Given the description of an element on the screen output the (x, y) to click on. 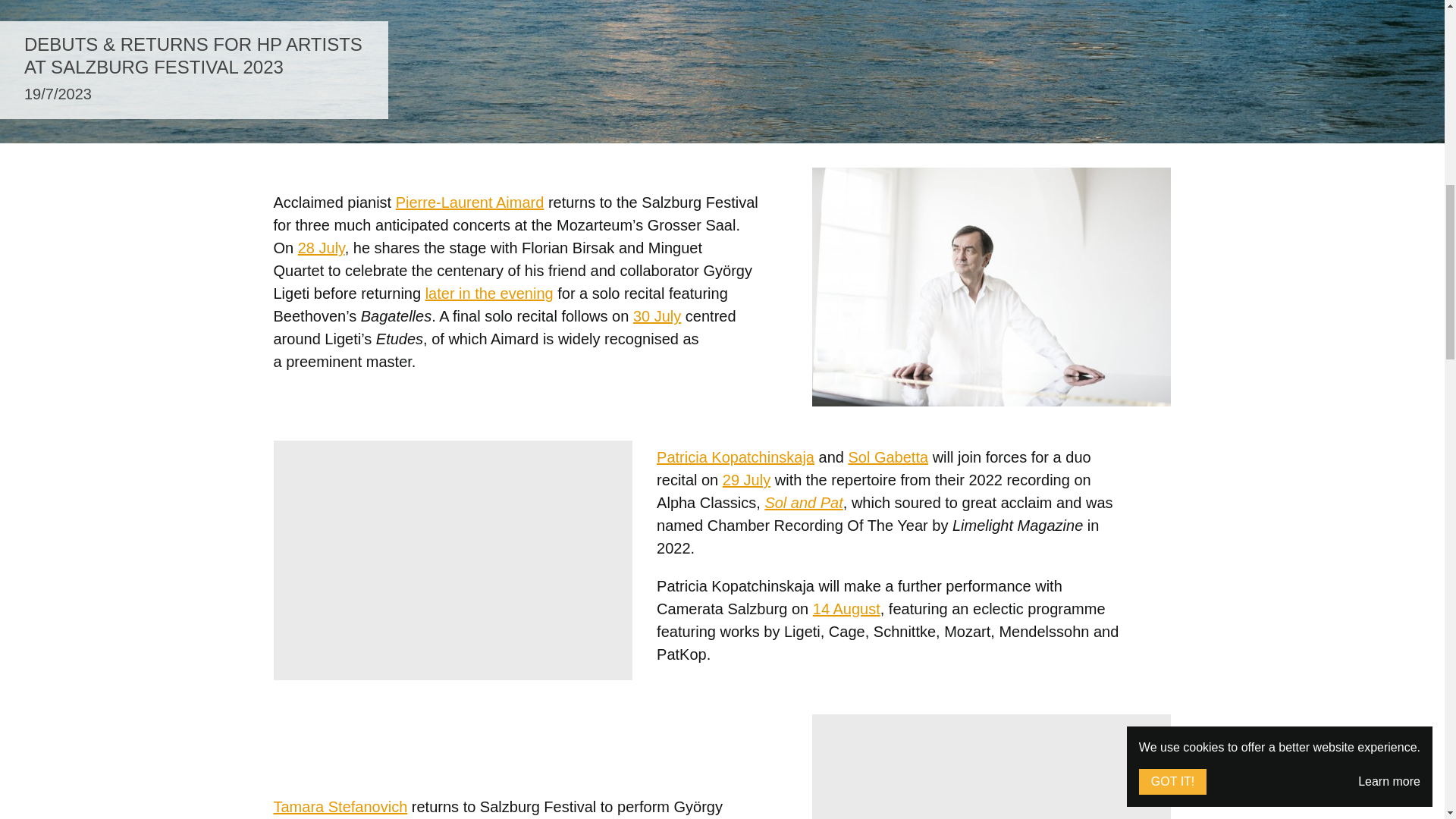
14 August (846, 608)
Pierre-Laurent Aimard (470, 202)
Sol Gabetta (887, 457)
Tamara Stefanovich (340, 806)
28 July (321, 247)
Sol and Pat (803, 502)
Patricia Kopatchinskaja (734, 457)
later in the evening (489, 293)
30 July (657, 315)
29 July (746, 479)
